Given the description of an element on the screen output the (x, y) to click on. 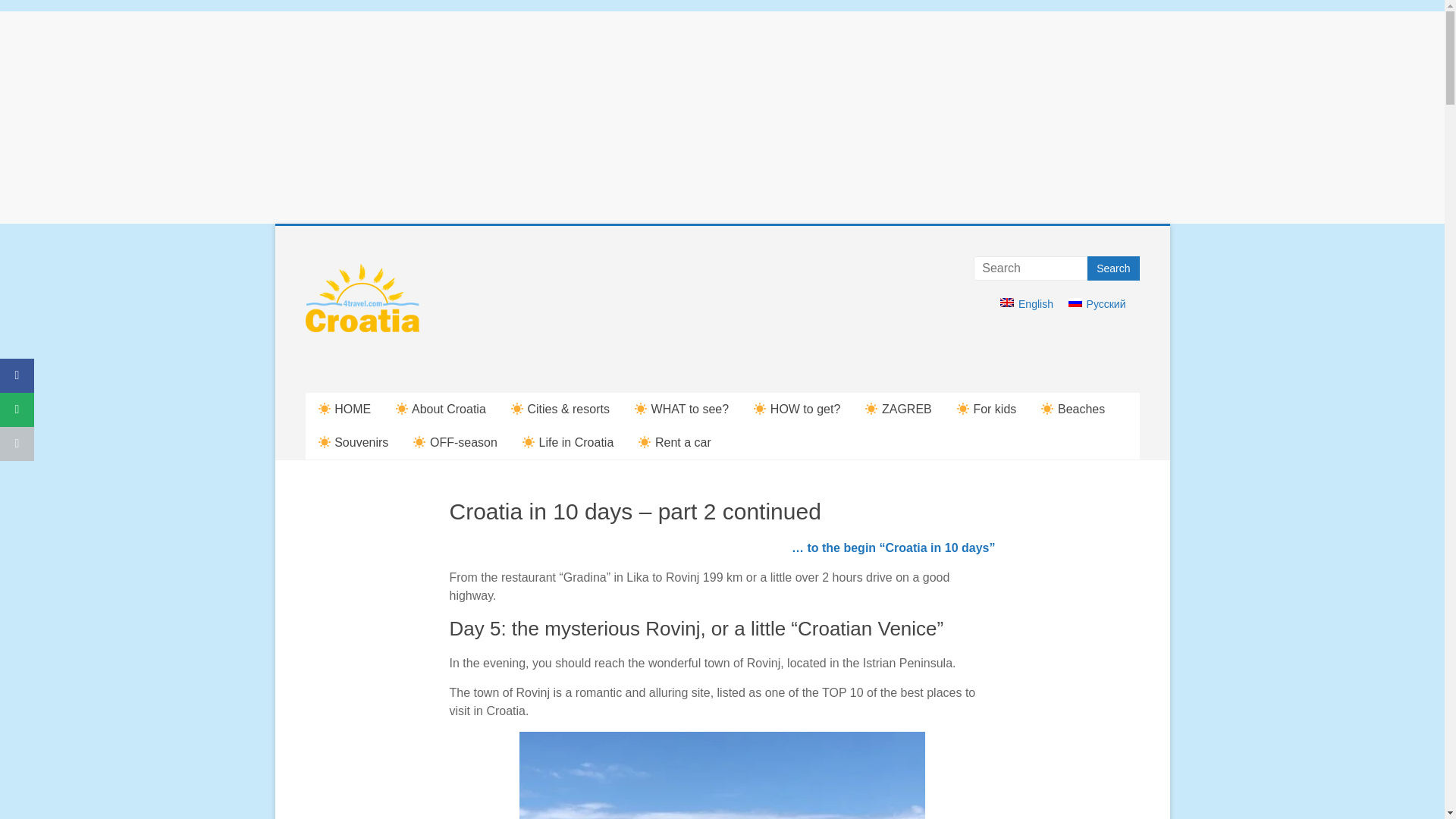
Beaches (1071, 409)
ZAGREB (897, 409)
About Croatia (439, 409)
Souvenirs (352, 442)
Search (1112, 268)
English (1026, 309)
Rent a car (674, 442)
Search (1112, 268)
HOW to get? (796, 409)
OFF-season (454, 442)
Life in Croatia (567, 442)
WHAT to see? (681, 409)
English (1006, 302)
